Given the description of an element on the screen output the (x, y) to click on. 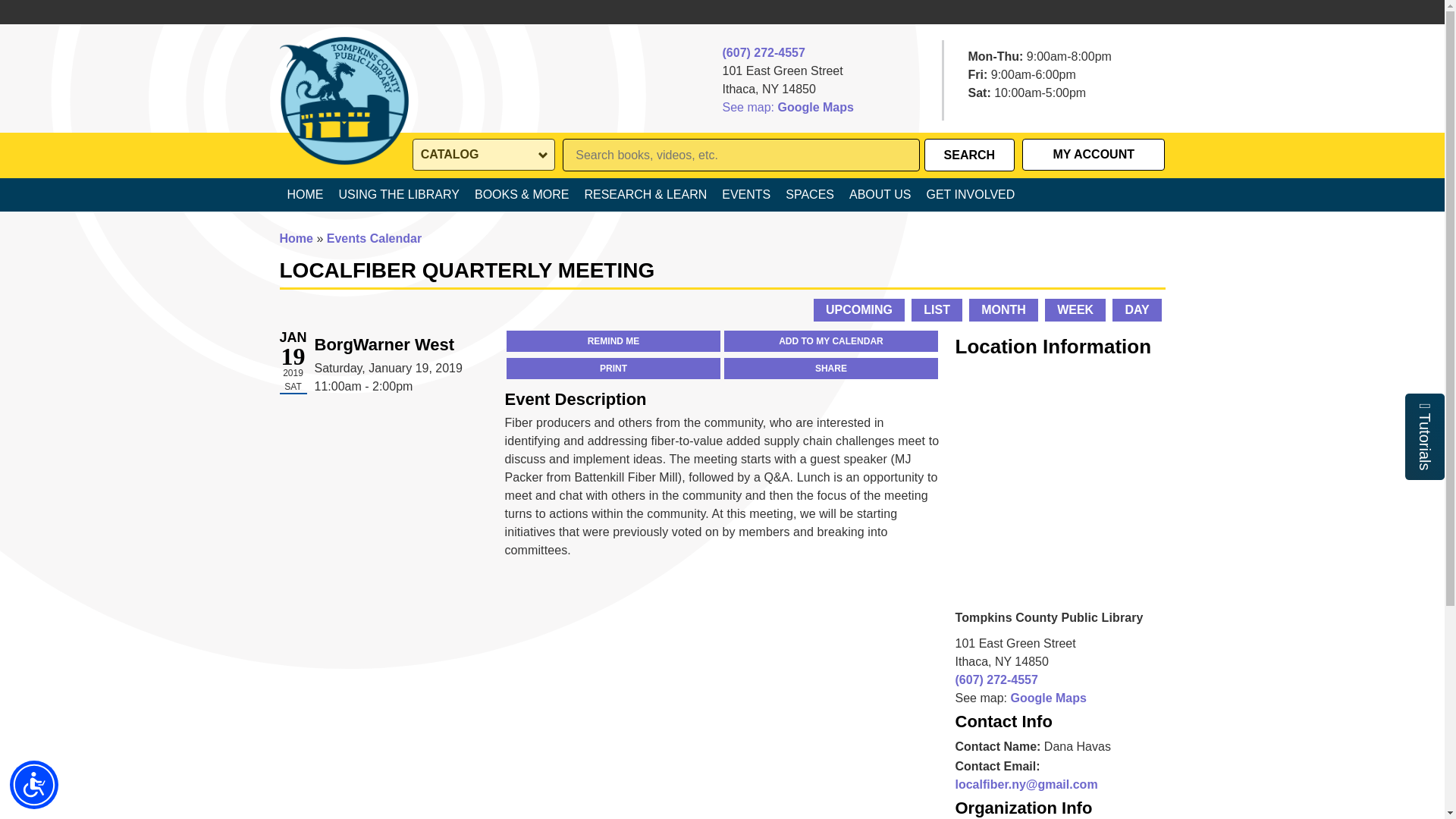
MY ACCOUNT (1093, 154)
Add To My Calendar (830, 341)
Home (343, 74)
Accessibility Menu (34, 784)
Search (969, 154)
Google Maps (815, 107)
Search (969, 154)
Share this event (830, 368)
Print this event (612, 368)
Search (969, 154)
Remind Me (612, 341)
HOME (304, 194)
